Given the description of an element on the screen output the (x, y) to click on. 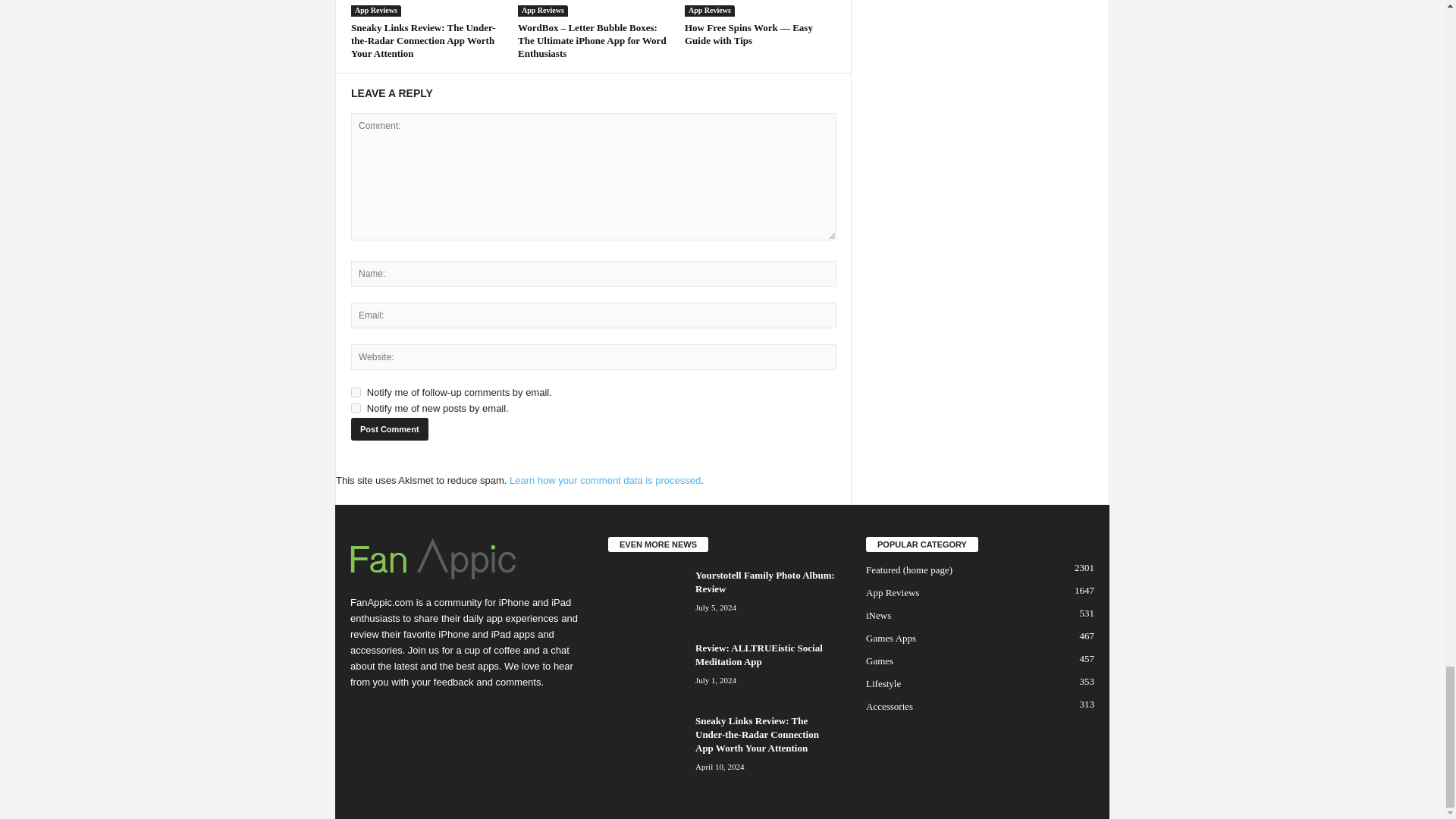
subscribe (355, 392)
subscribe (355, 408)
Post Comment (389, 428)
